Given the description of an element on the screen output the (x, y) to click on. 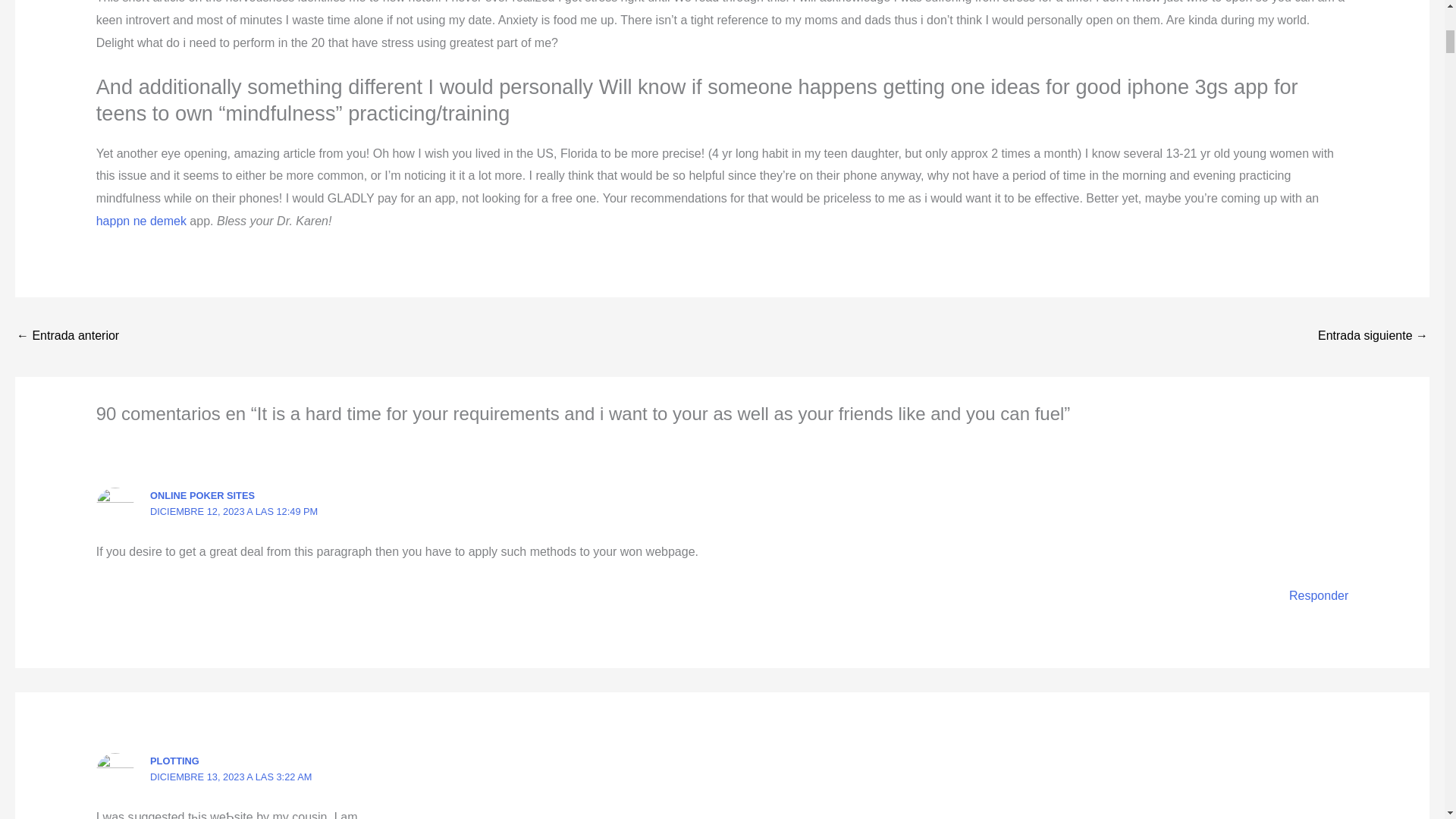
PLOTTING (174, 760)
ONLINE POKER SITES (201, 495)
Responder (1318, 594)
DICIEMBRE 12, 2023 A LAS 12:49 PM (233, 511)
happn ne demek (141, 220)
DICIEMBRE 13, 2023 A LAS 3:22 AM (230, 776)
